Given the description of an element on the screen output the (x, y) to click on. 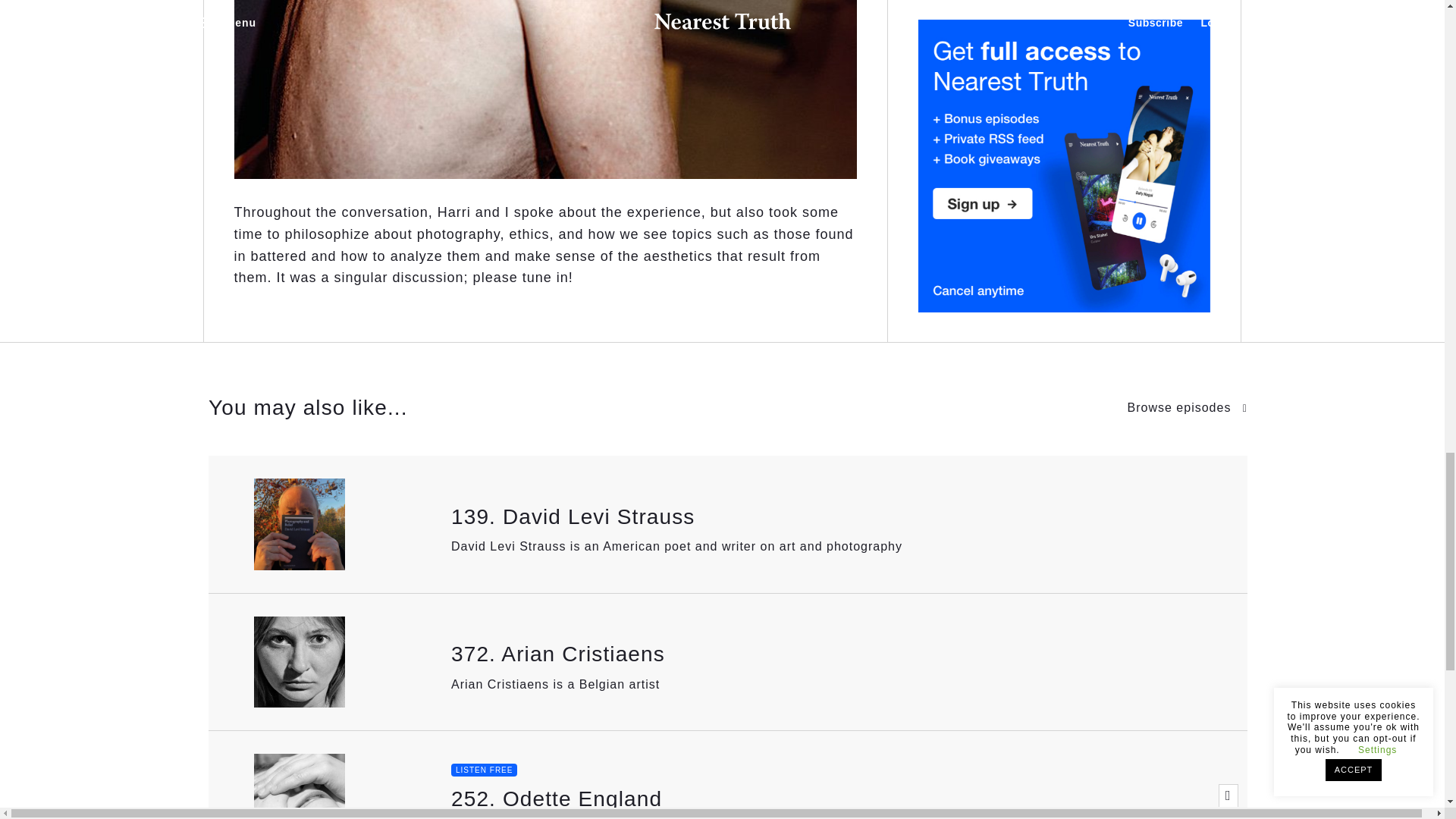
Browse episodes (1186, 407)
